Given the description of an element on the screen output the (x, y) to click on. 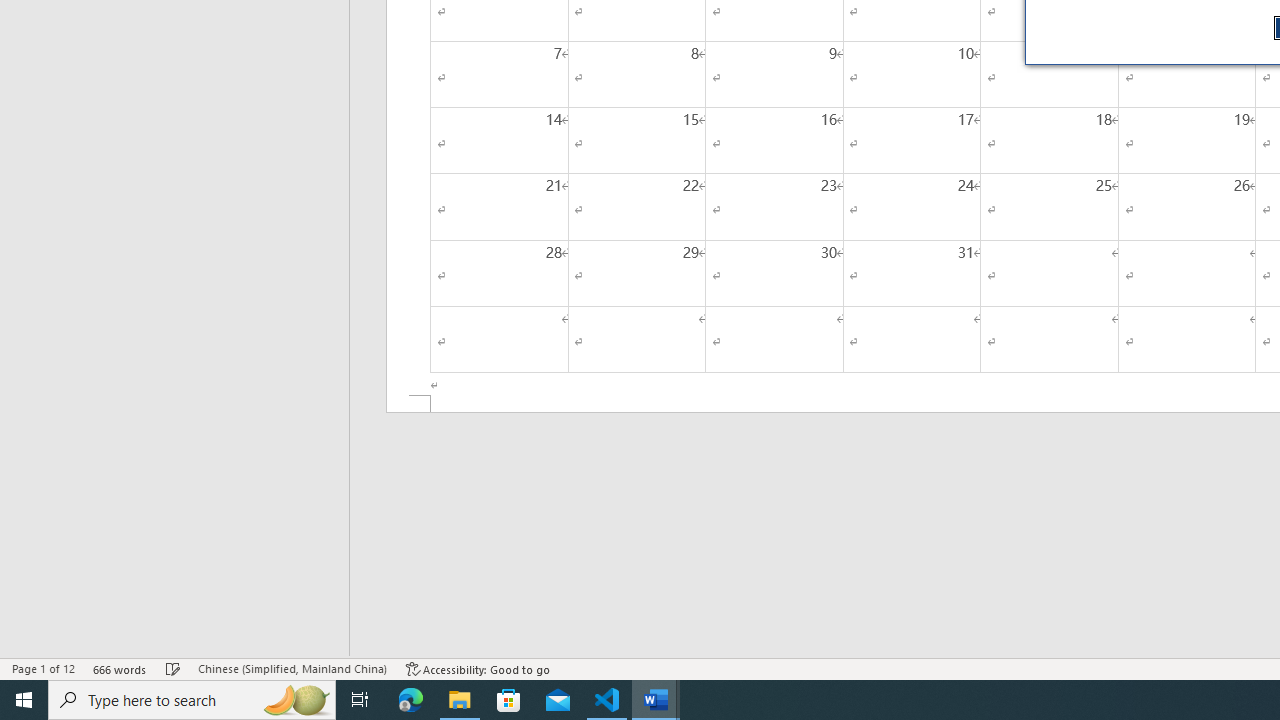
Page Number Page 1 of 12 (43, 668)
